Given the description of an element on the screen output the (x, y) to click on. 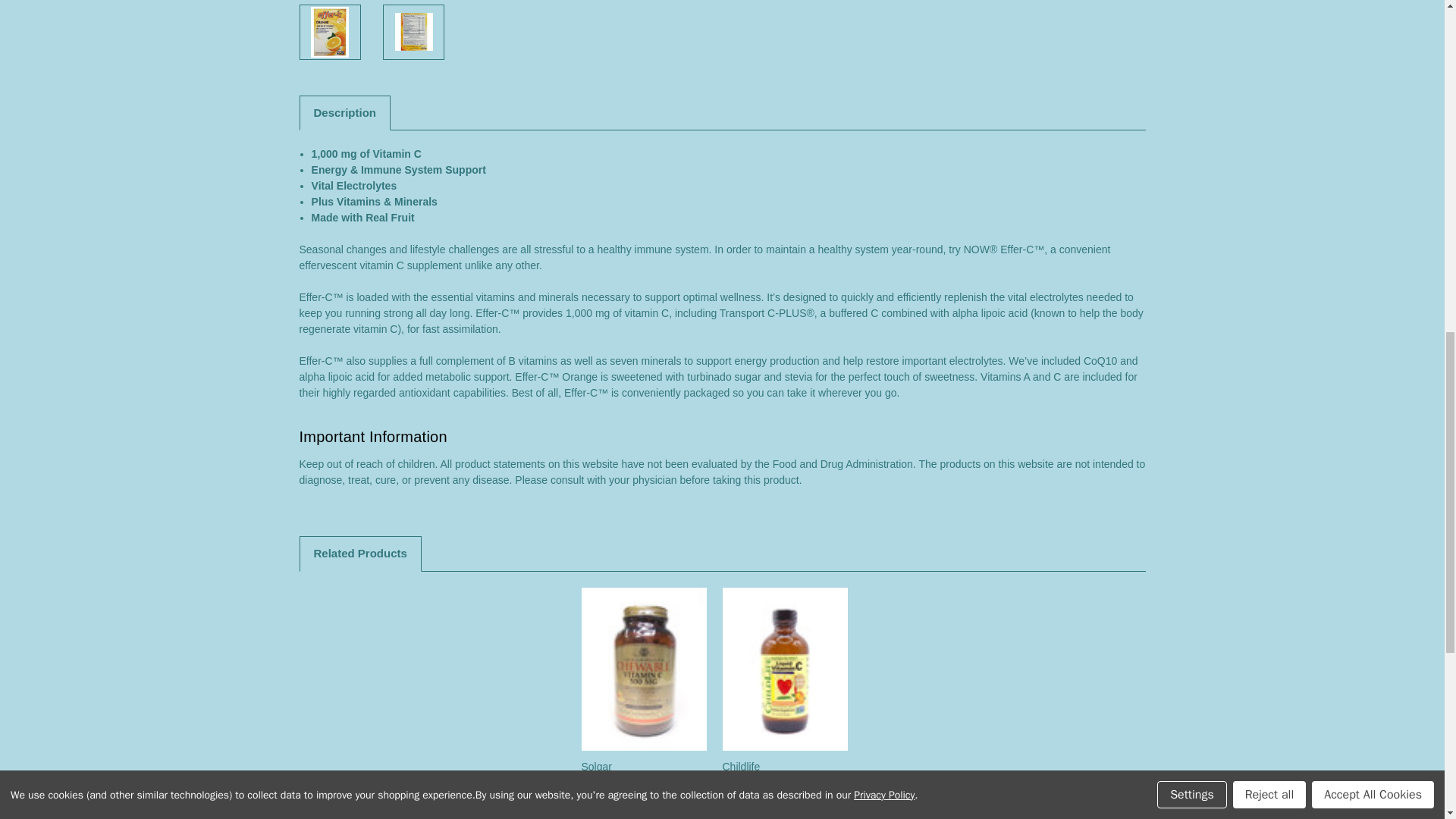
Childlife Liquid Vitamin C For Kids, 4 oz. Orange fl.  (785, 668)
Solgar Chewable Vitamin C 90ct Orange Flavor  (643, 669)
